Given the description of an element on the screen output the (x, y) to click on. 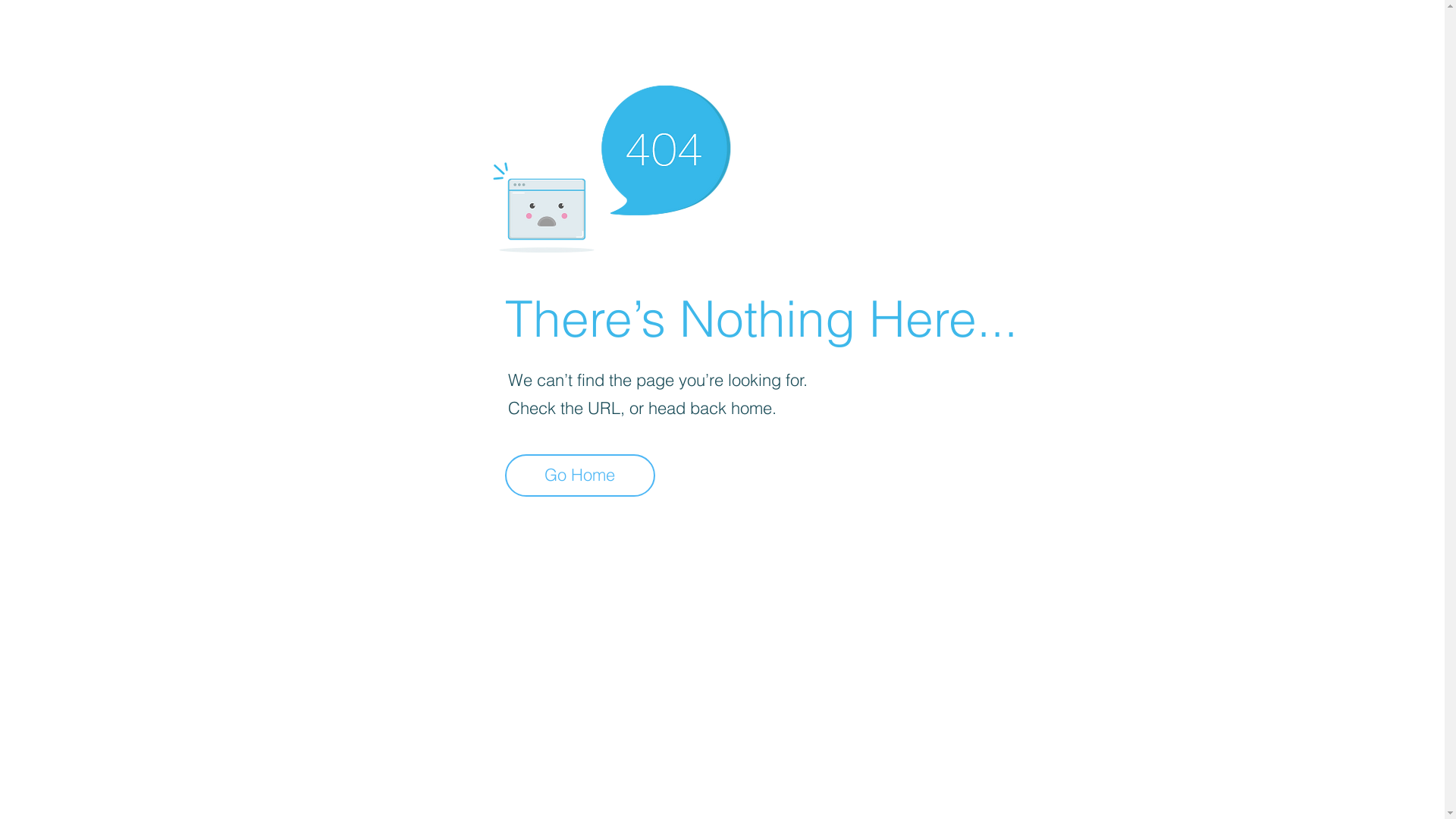
Go Home Element type: text (580, 475)
404-icon_2.png Element type: hover (610, 164)
